Given the description of an element on the screen output the (x, y) to click on. 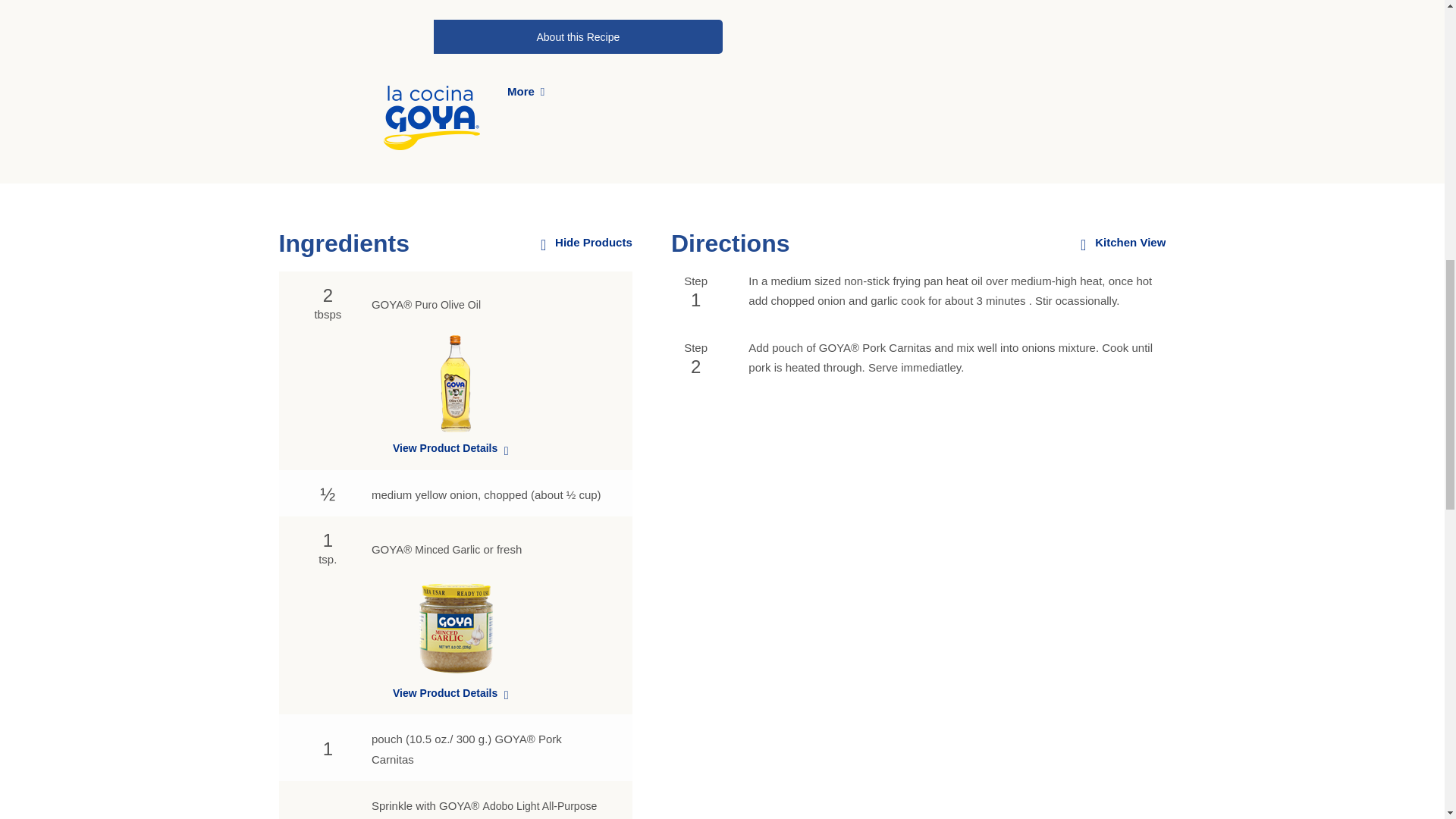
Minced Garlic (447, 549)
Adobo Light All-Purpose Seasoning (483, 809)
Puro Olive Oil (447, 304)
